Given the description of an element on the screen output the (x, y) to click on. 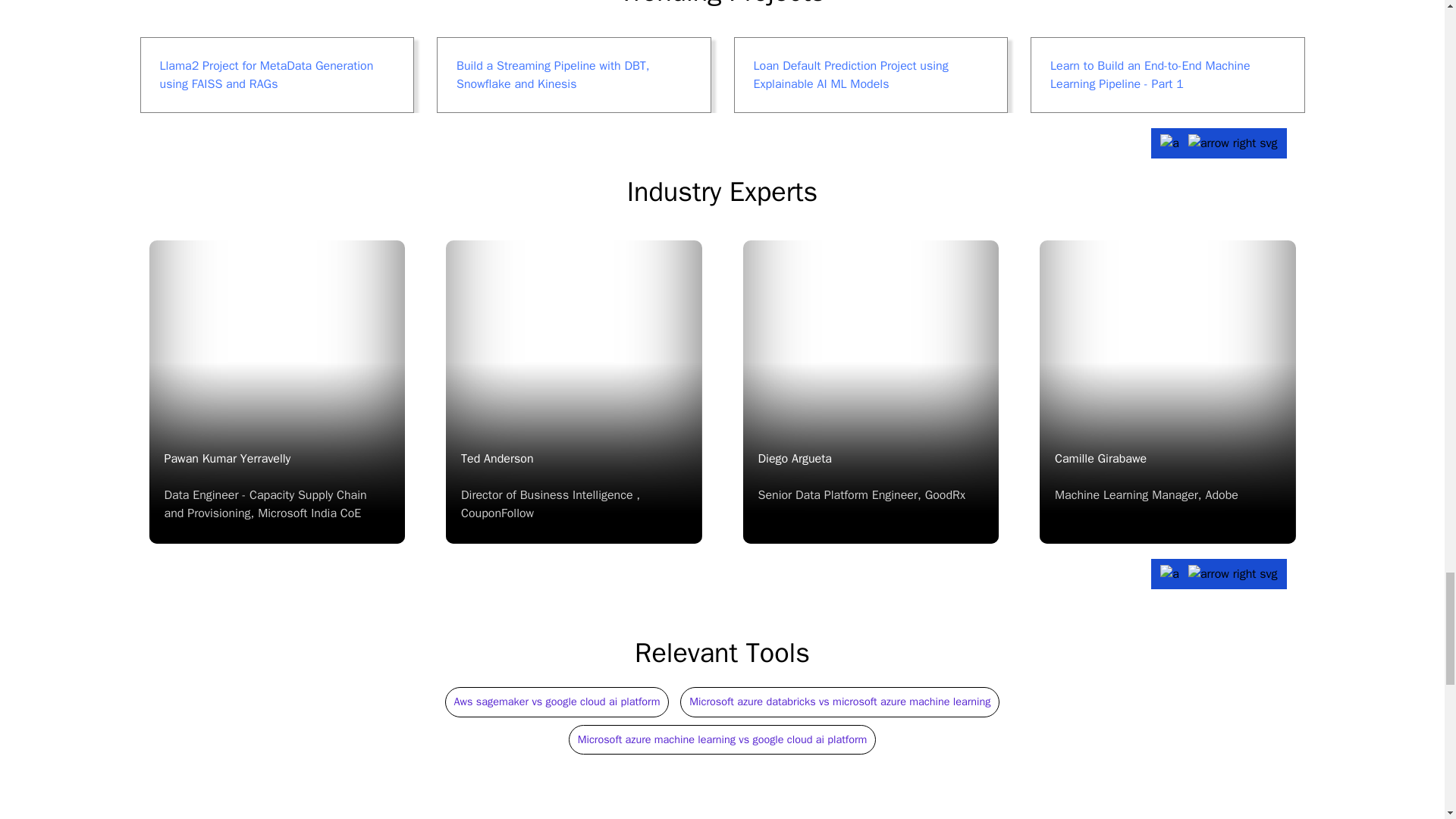
Llama2 Project for MetaData Generation using FAISS and RAGs (1167, 391)
Llama2 Project for MetaData Generation using FAISS and RAGs (276, 74)
Build a Streaming Pipeline with DBT, Snowflake and Kinesis (276, 74)
